Given the description of an element on the screen output the (x, y) to click on. 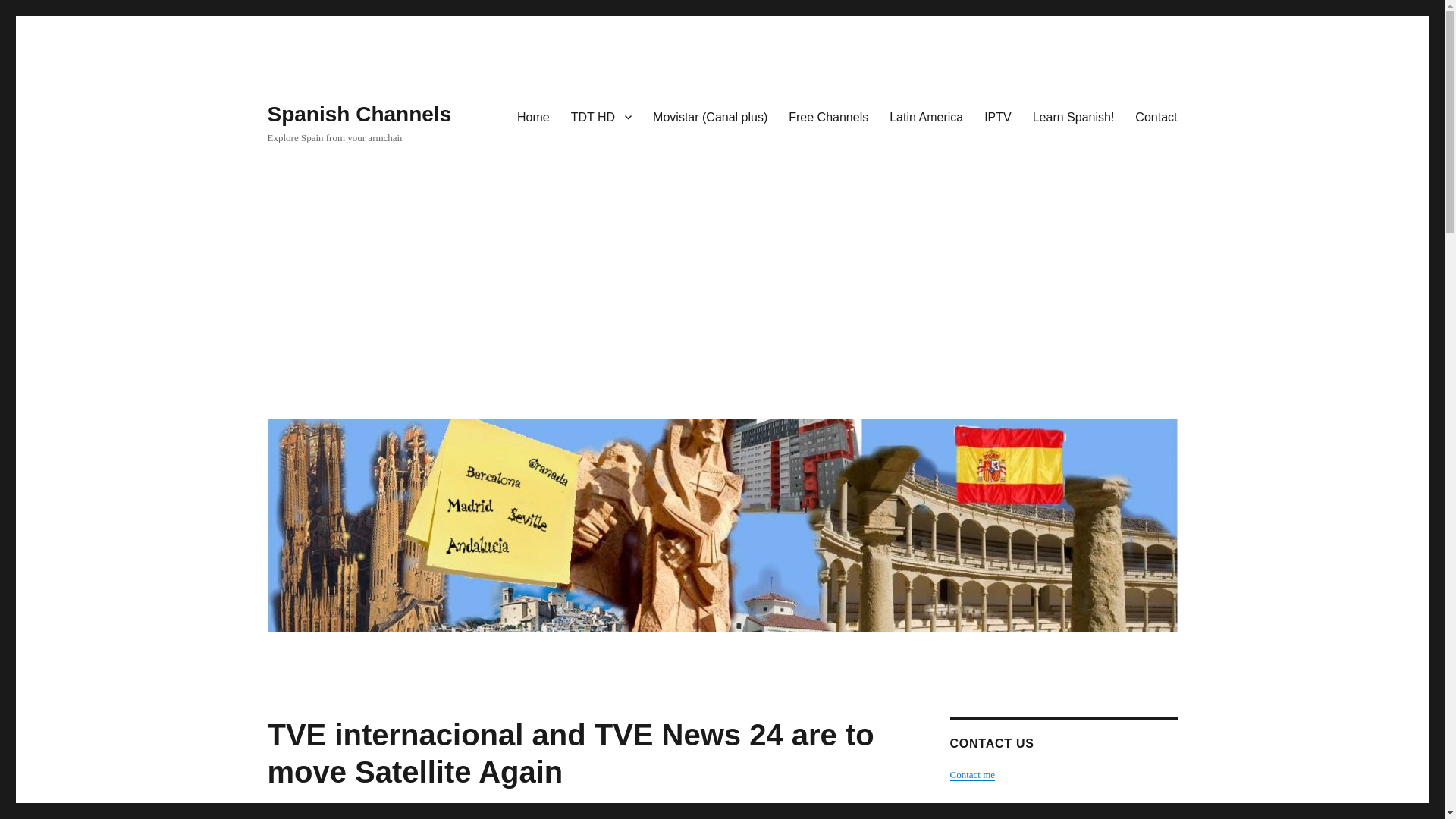
Learn Spanish! (1073, 116)
TDT HD (601, 116)
Spanish Channels (358, 114)
Latin America (926, 116)
IPTV (998, 116)
Home (533, 116)
Contact me (971, 774)
Contact (1156, 116)
Free Channels (828, 116)
